Given the description of an element on the screen output the (x, y) to click on. 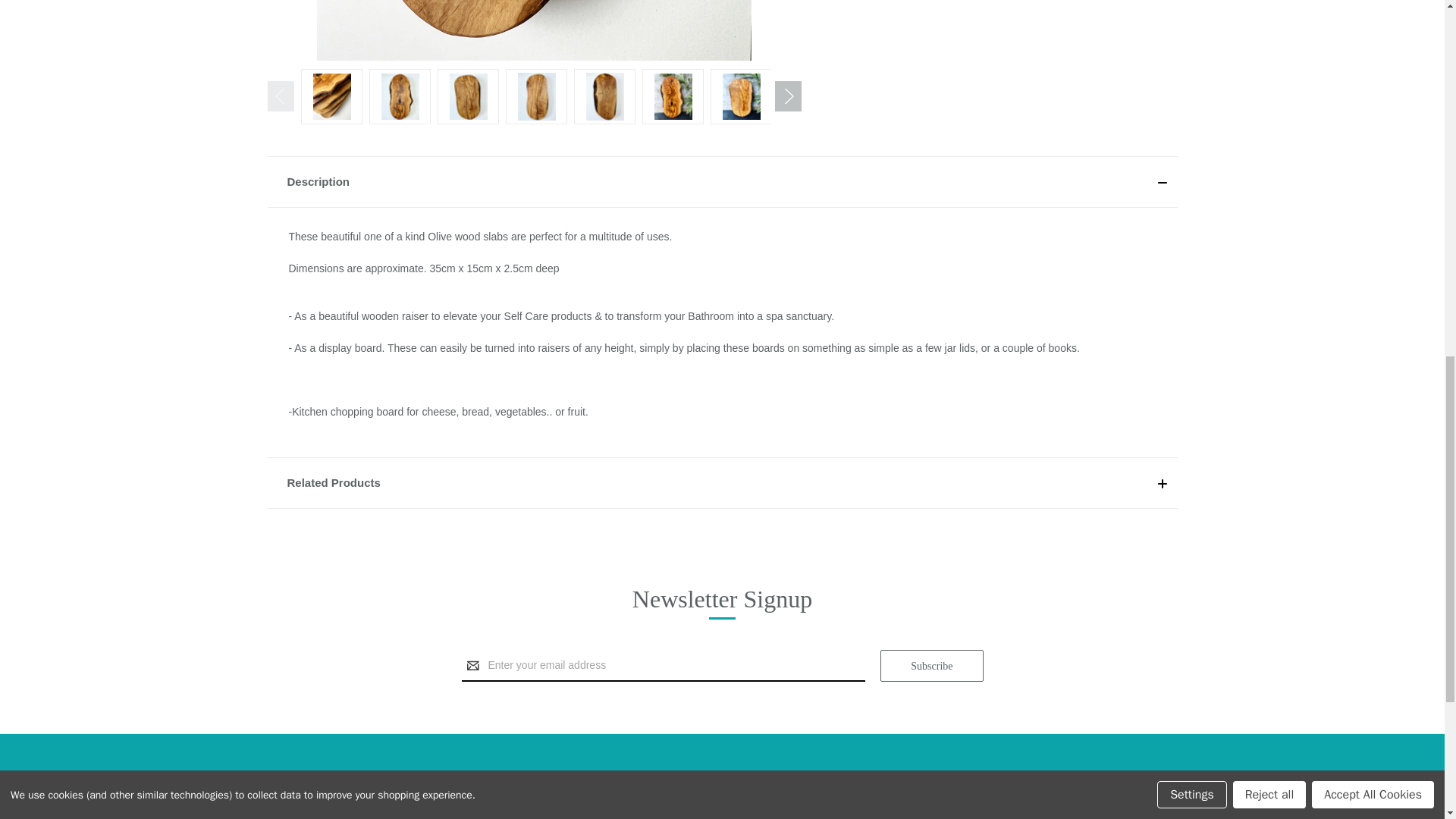
Olive wood slab with live edge and bark chopping board (331, 96)
Olive wood slab with live edge and bark chopping board (533, 30)
Olive wood slab with live edge and bark chopping board (400, 96)
Subscribe (931, 665)
